Given the description of an element on the screen output the (x, y) to click on. 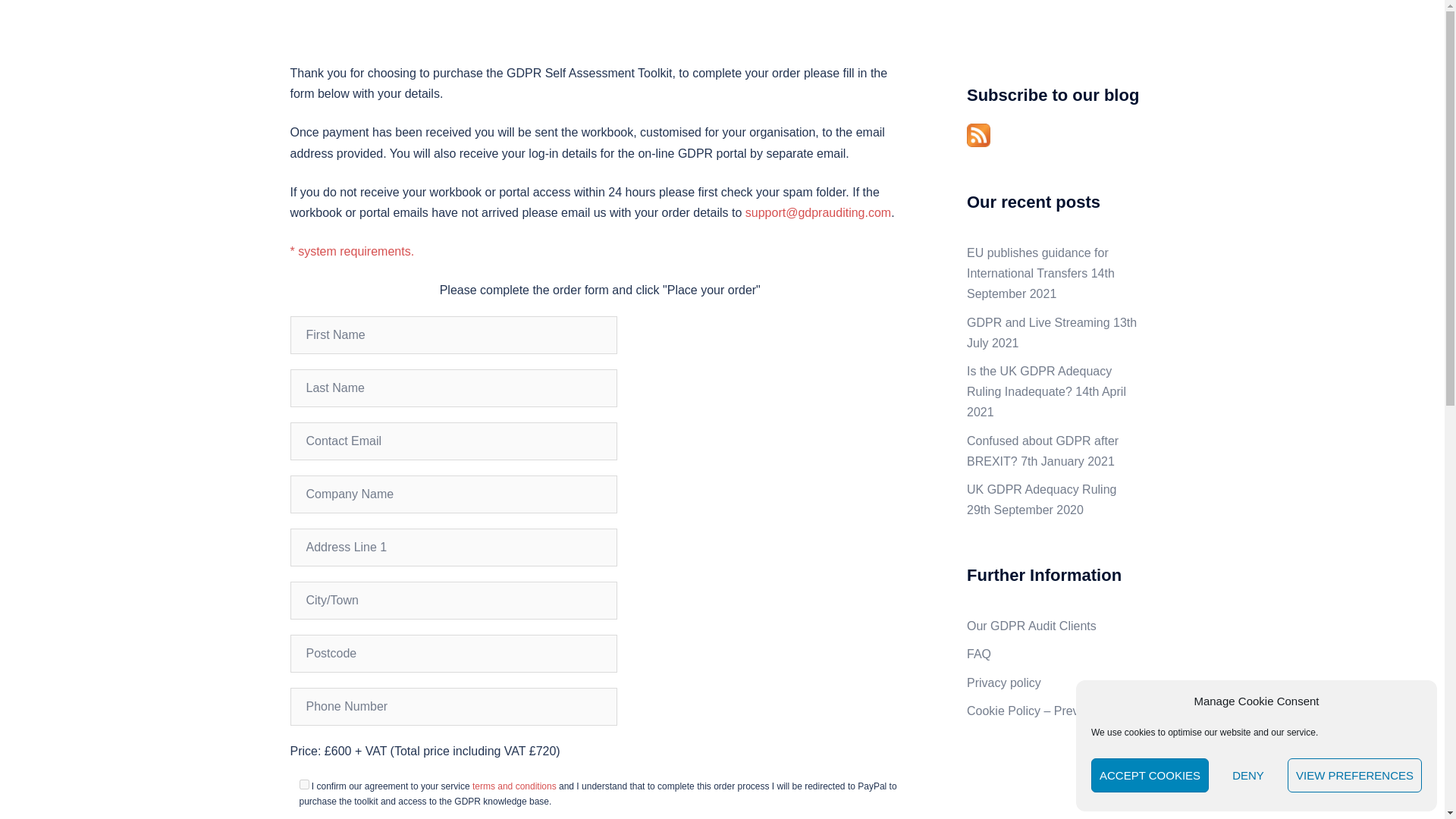
ACCEPT COOKIES (1149, 775)
Home (817, 38)
VIEW PREFERENCES (1354, 775)
Services (874, 38)
Contact Us (1116, 38)
1 (303, 784)
GDPR Auditing (376, 29)
eLearning (938, 38)
About Us (1005, 38)
Blog (1059, 38)
DENY (1247, 775)
terms and conditions (513, 786)
